Given the description of an element on the screen output the (x, y) to click on. 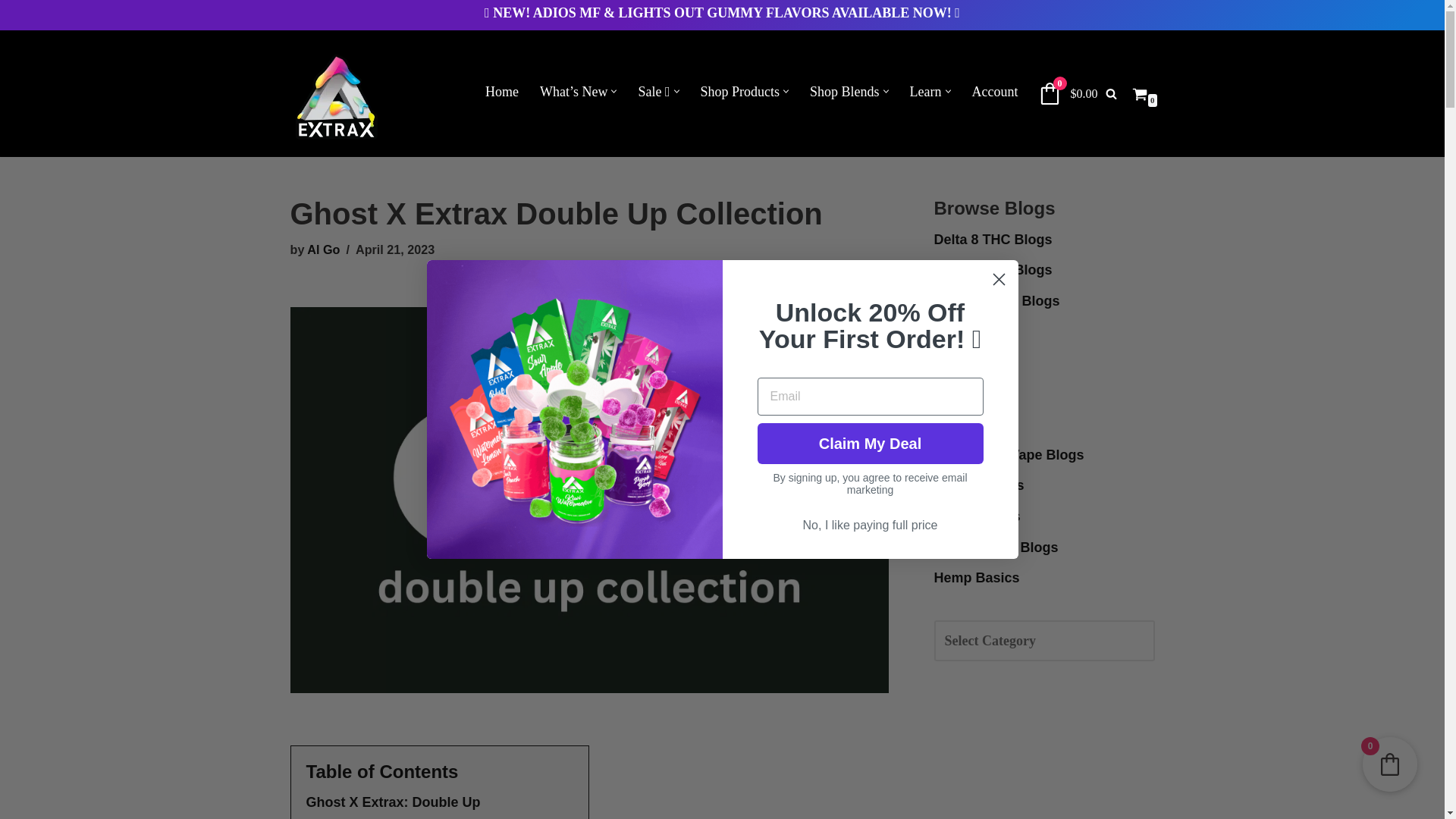
Home (501, 91)
ADIOS MF (565, 12)
Close dialog 1 (998, 279)
Shop Products (740, 91)
Skip to content (11, 31)
Posts by Al Go (323, 249)
LIGHTS OUT (660, 12)
Shop Blends (844, 91)
